Given the description of an element on the screen output the (x, y) to click on. 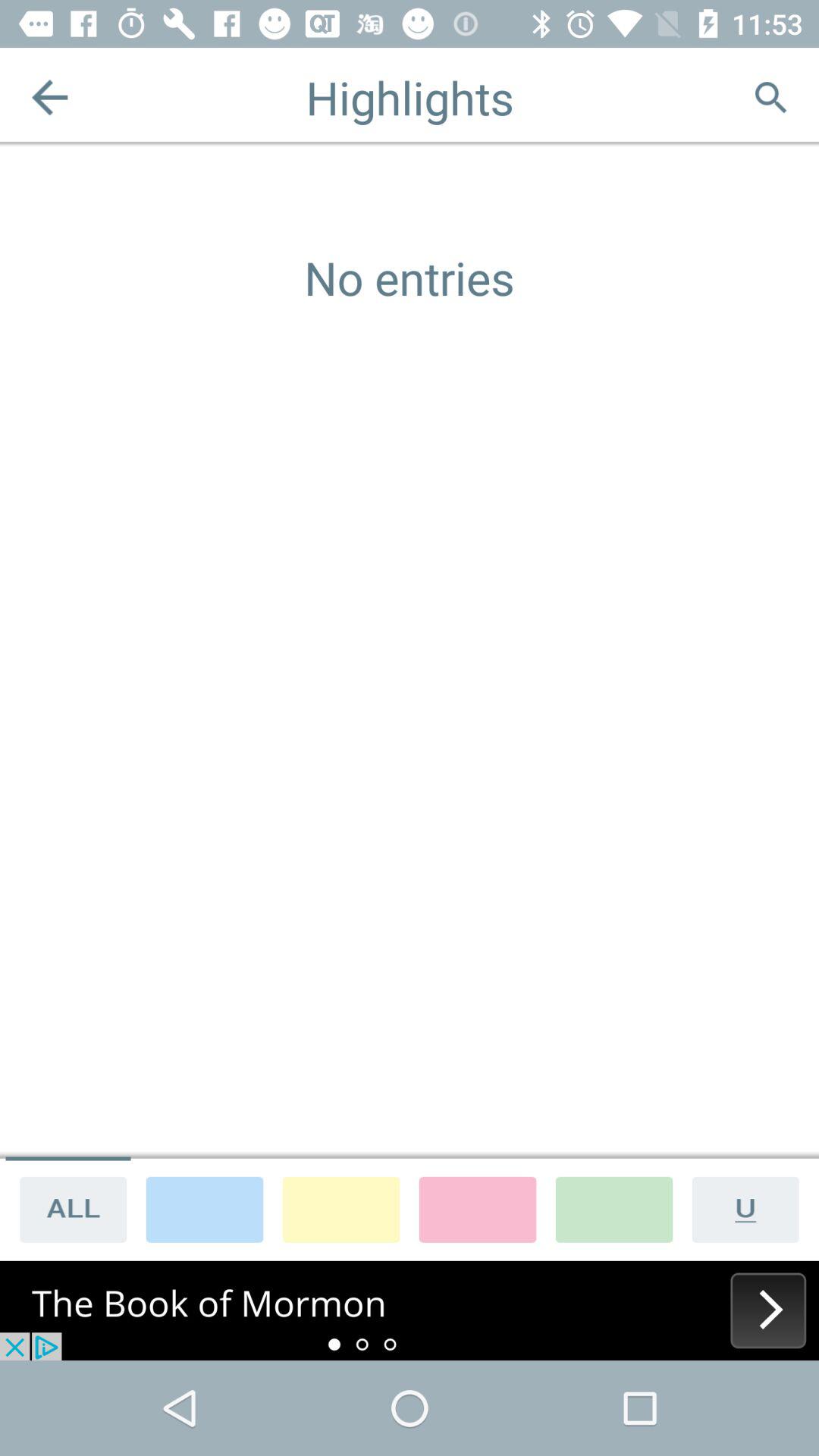
select the button shows if you want to edit the word (750, 1208)
